Given the description of an element on the screen output the (x, y) to click on. 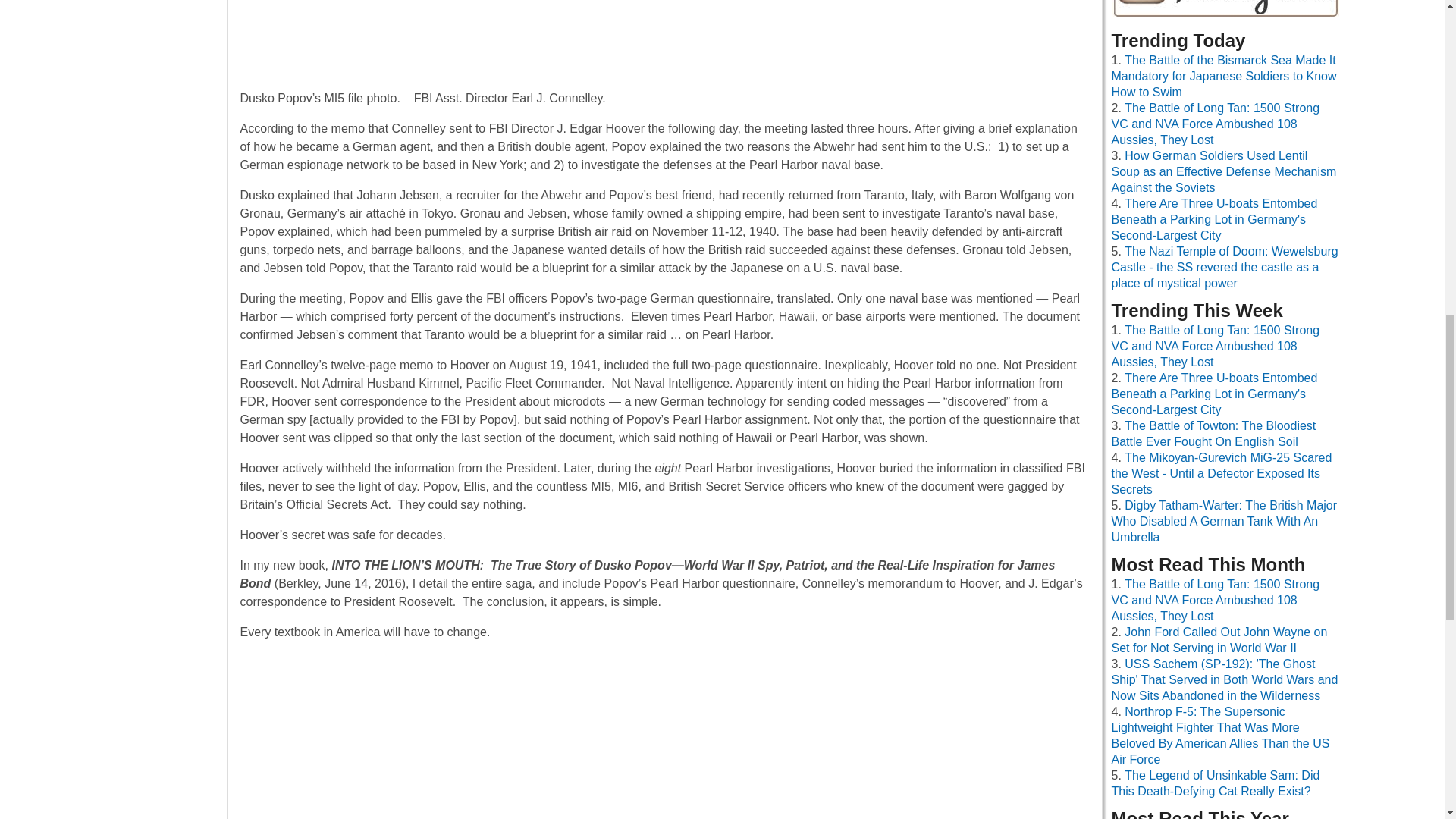
UNSPEAKABLE:  FBI Warned About Pearl Harbor! (664, 736)
